Given the description of an element on the screen output the (x, y) to click on. 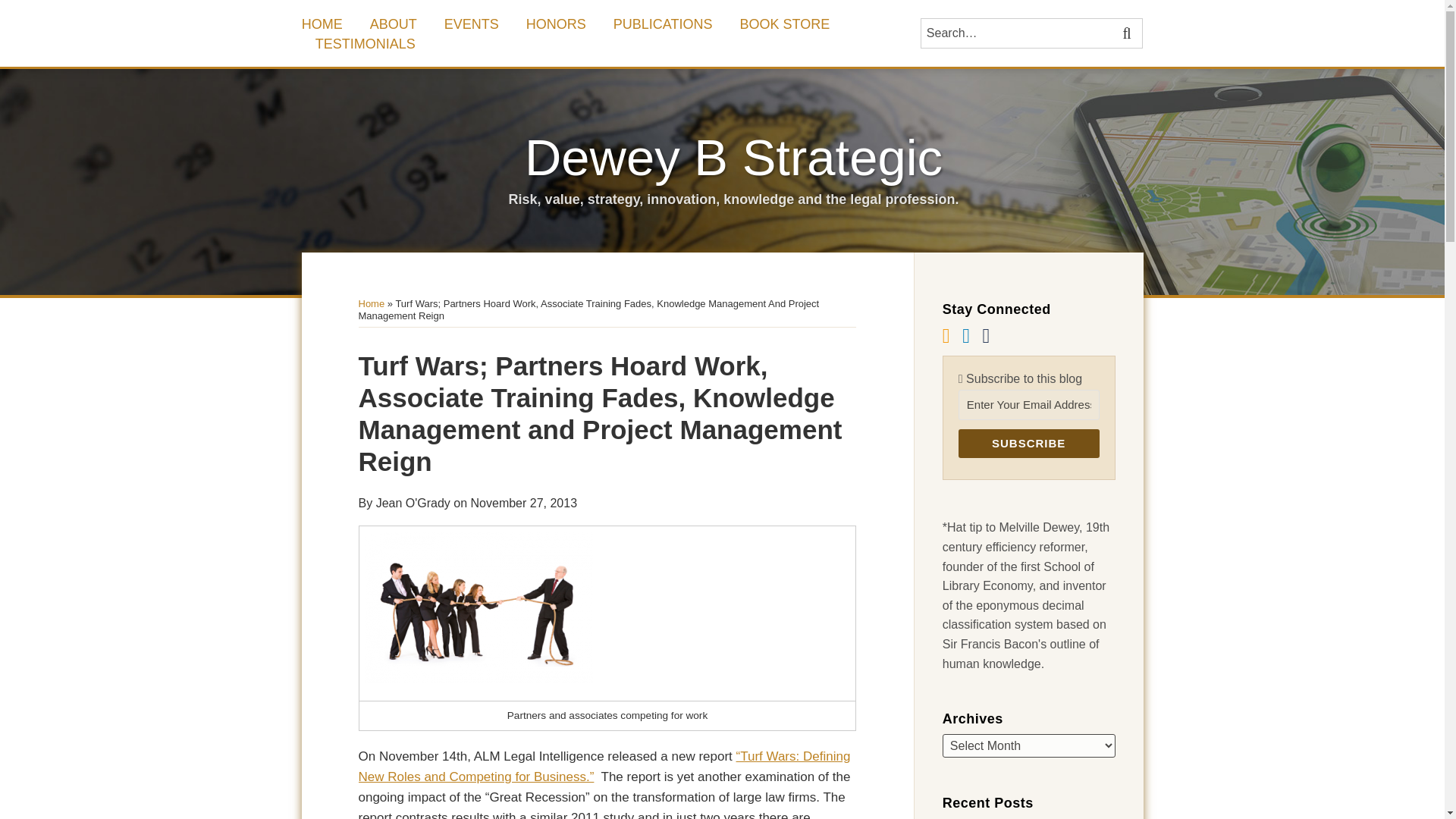
BOOK STORE (784, 24)
TESTIMONIALS (364, 44)
Home (371, 303)
HONORS (555, 24)
ABOUT (392, 24)
HOME (321, 24)
PUBLICATIONS (662, 24)
Dewey B Strategic (733, 156)
tug o war-resized-600 (478, 607)
Subscribe (1028, 443)
Subscribe (1028, 443)
EVENTS (471, 24)
SEARCH (1128, 32)
